Given the description of an element on the screen output the (x, y) to click on. 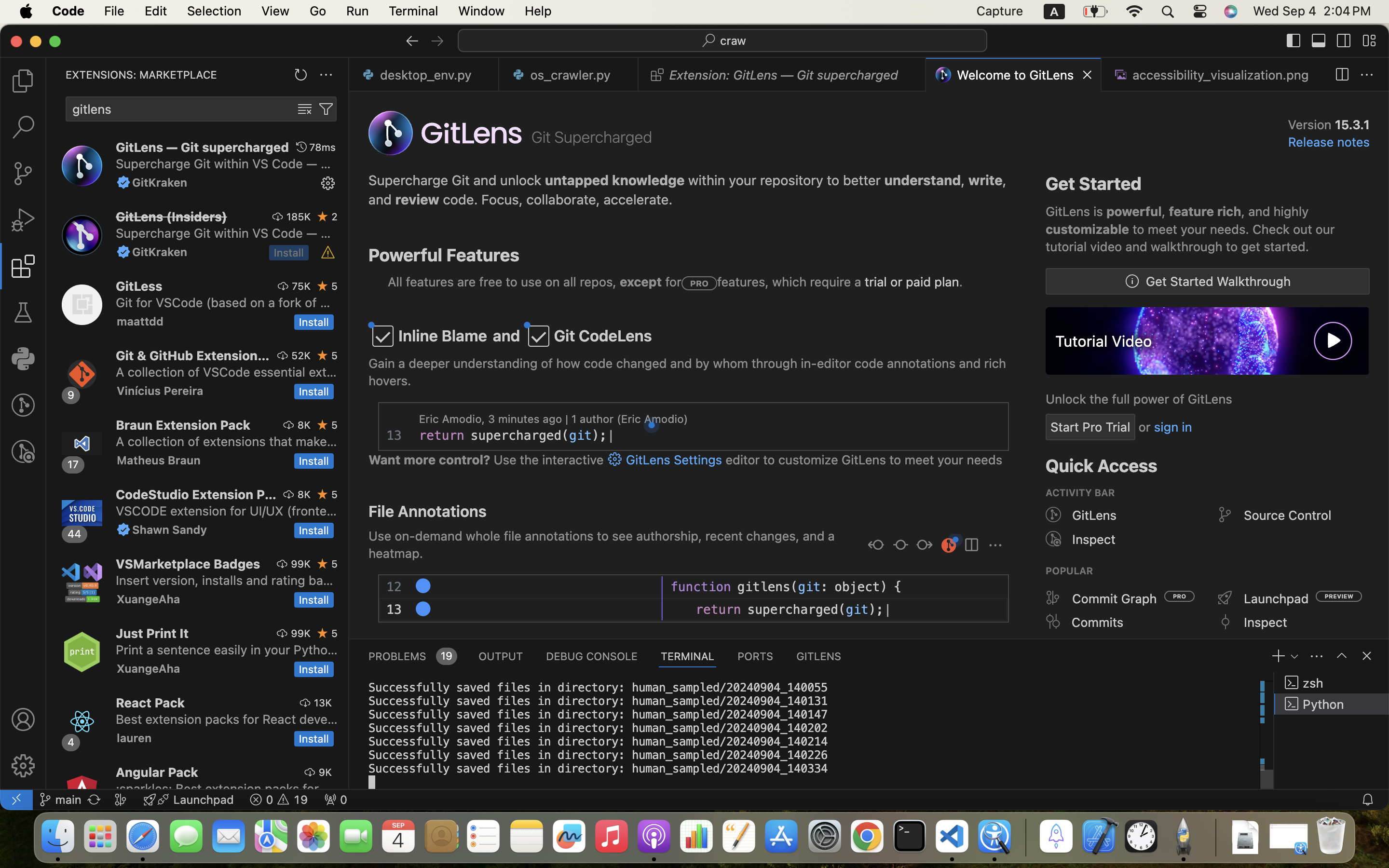
sign in Element type: AXStaticText (1172, 426)
0.4285714328289032 Element type: AXDockItem (1024, 836)
8K Element type: AXStaticText (303, 424)
Start Pro Trial Element type: AXStaticText (1090, 426)
untapped knowledge Element type: AXStaticText (614, 180)
